Given the description of an element on the screen output the (x, y) to click on. 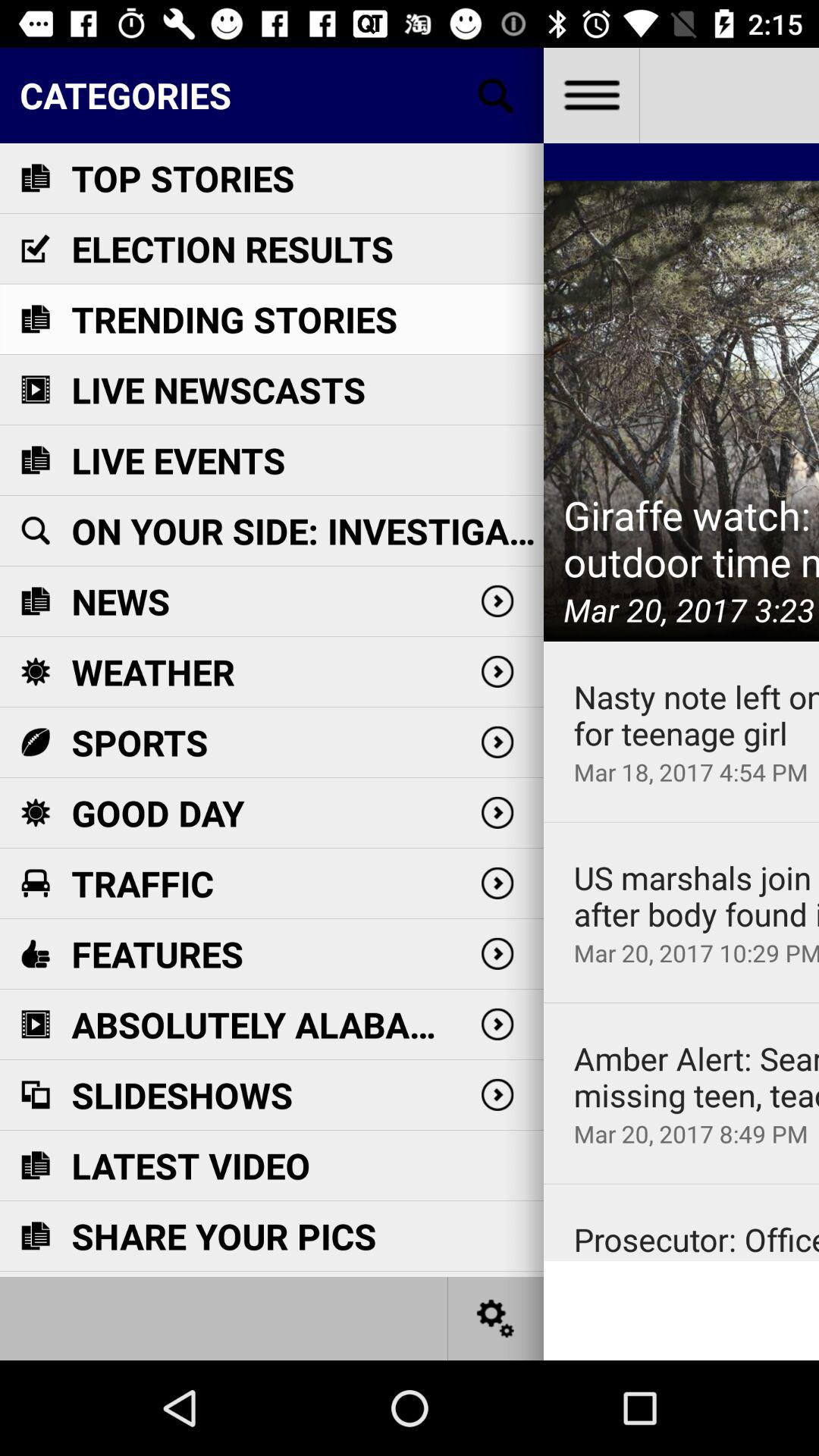
open settings (495, 1318)
